Given the description of an element on the screen output the (x, y) to click on. 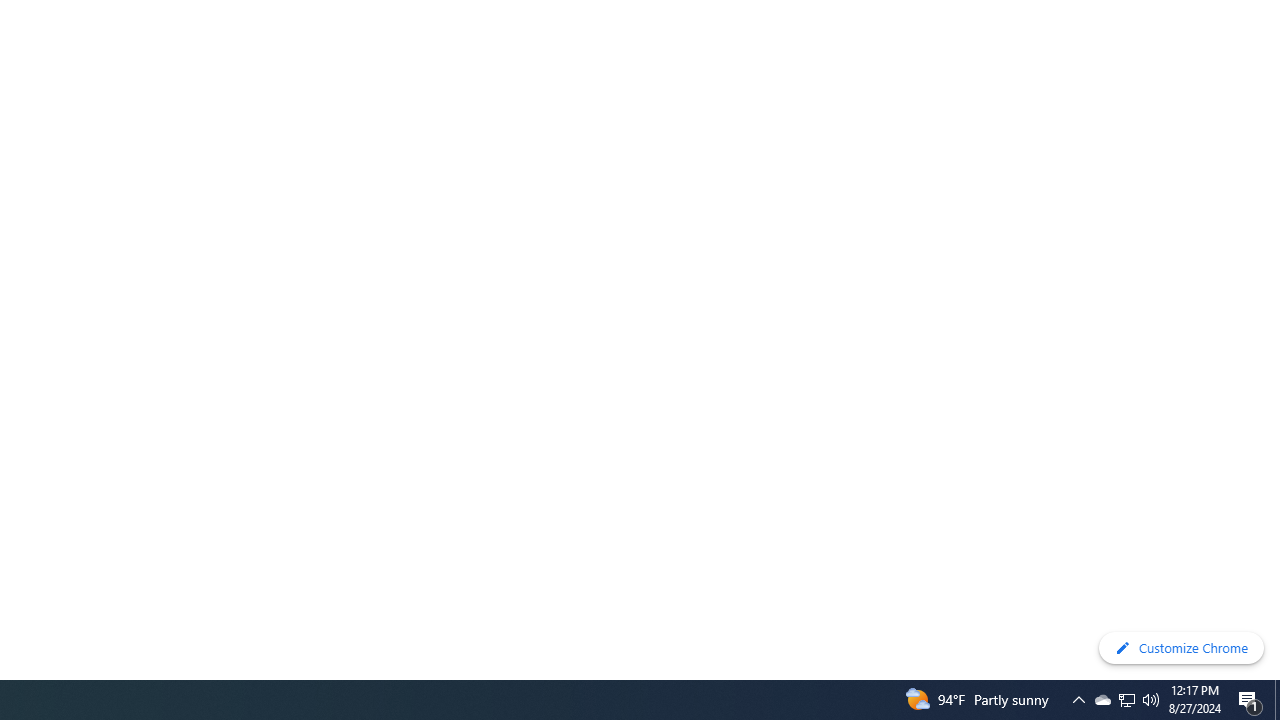
Customize Chrome (1181, 647)
